Given the description of an element on the screen output the (x, y) to click on. 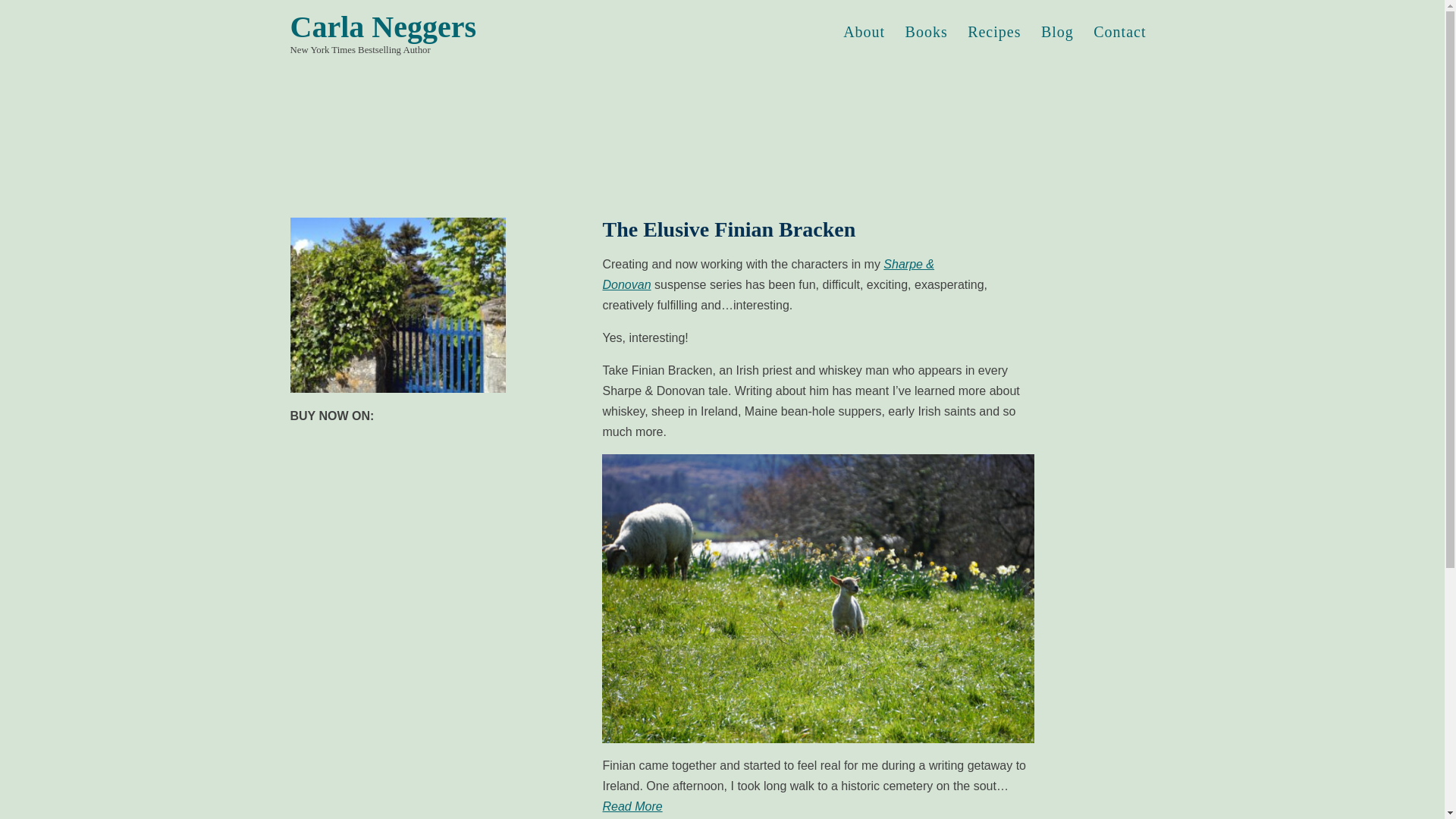
About (863, 31)
Books (926, 31)
The Elusive Finian Bracken (729, 228)
Contact (1119, 31)
Recipes (994, 31)
Carla Neggers (461, 27)
Read More (632, 806)
Blog (1056, 31)
The Elusive Finian Bracken (729, 228)
The Elusive Finian Bracken (433, 305)
